Given the description of an element on the screen output the (x, y) to click on. 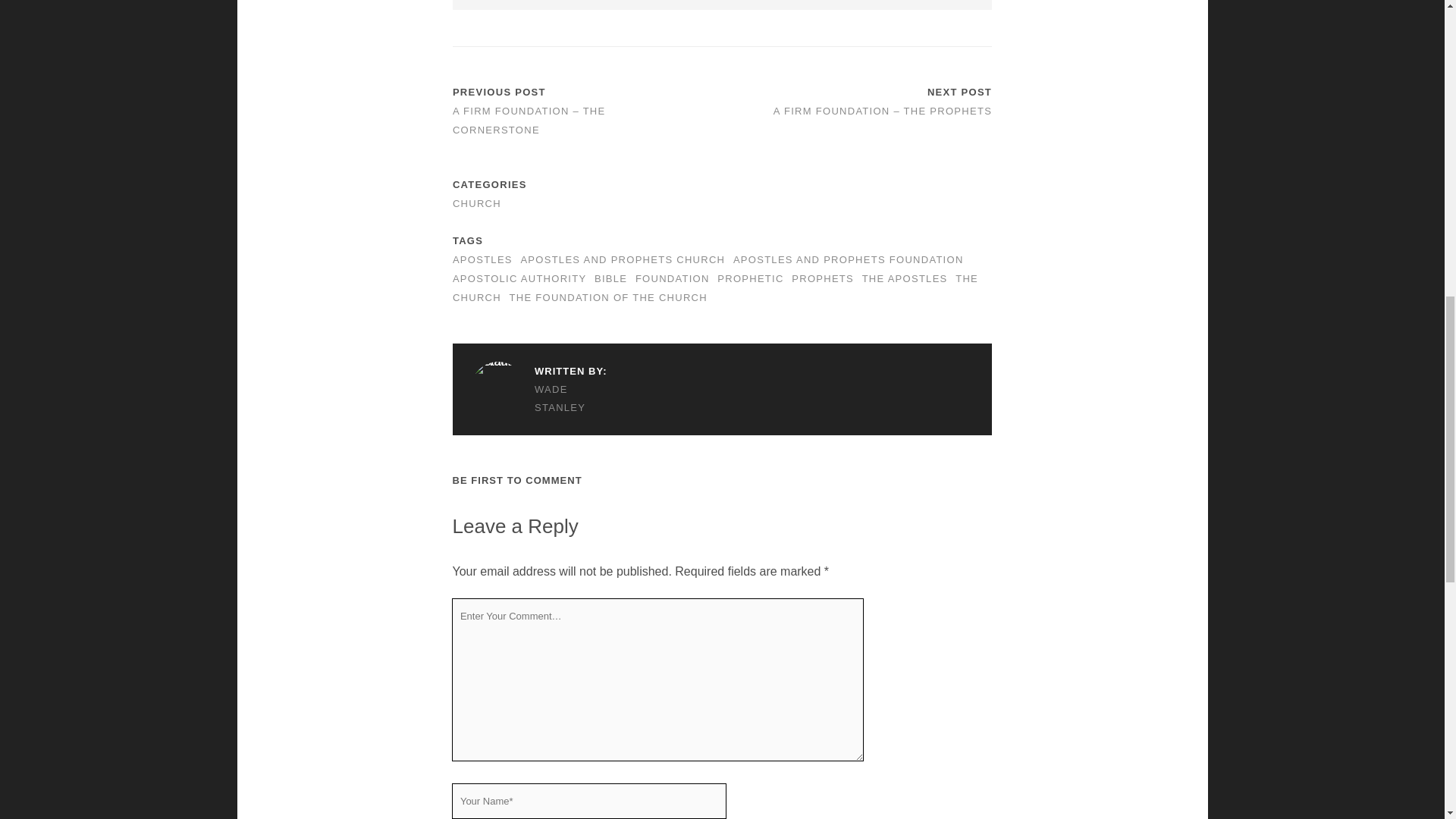
APOSTLES AND PROPHETS CHURCH (622, 259)
CHURCH (476, 203)
PROPHETS (822, 278)
WADE STANLEY (538, 398)
View all posts tagged Apostles and prophets foundation (848, 259)
View all posts tagged prophetic (750, 278)
PROPHETIC (750, 278)
View all posts tagged bible (610, 278)
View all posts tagged apostolic authority (519, 278)
View all posts tagged apostles (482, 259)
THE CHURCH (715, 287)
View all posts tagged prophets (822, 278)
View all posts tagged the apostles (904, 278)
THE FOUNDATION OF THE CHURCH (608, 297)
APOSTOLIC AUTHORITY (519, 278)
